Given the description of an element on the screen output the (x, y) to click on. 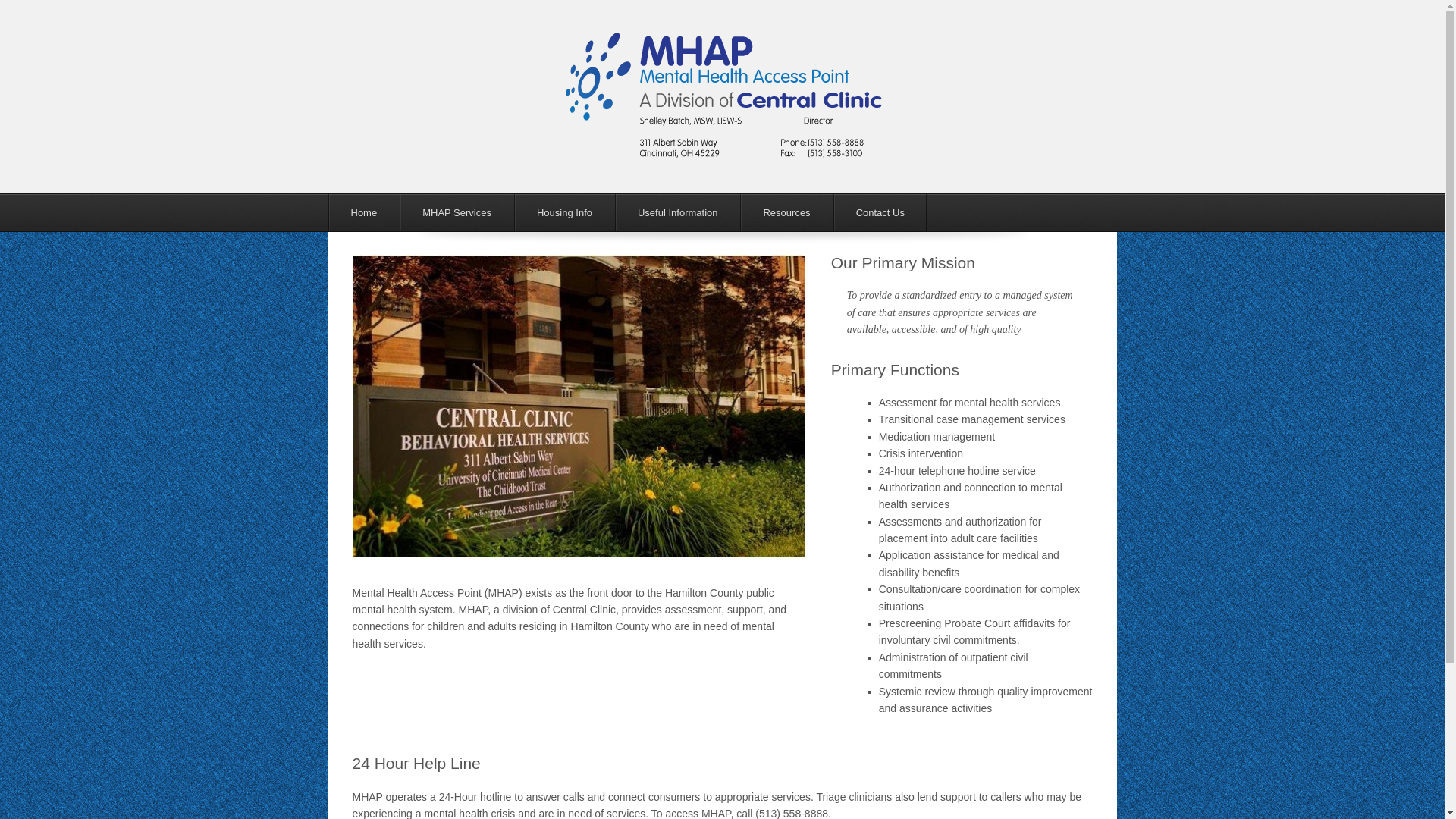
MHAP (723, 150)
MHAP Services (455, 212)
Home (362, 212)
Skip to content (385, 212)
Useful Information (677, 212)
Skip to content (385, 212)
Housing Info (563, 212)
